Given the description of an element on the screen output the (x, y) to click on. 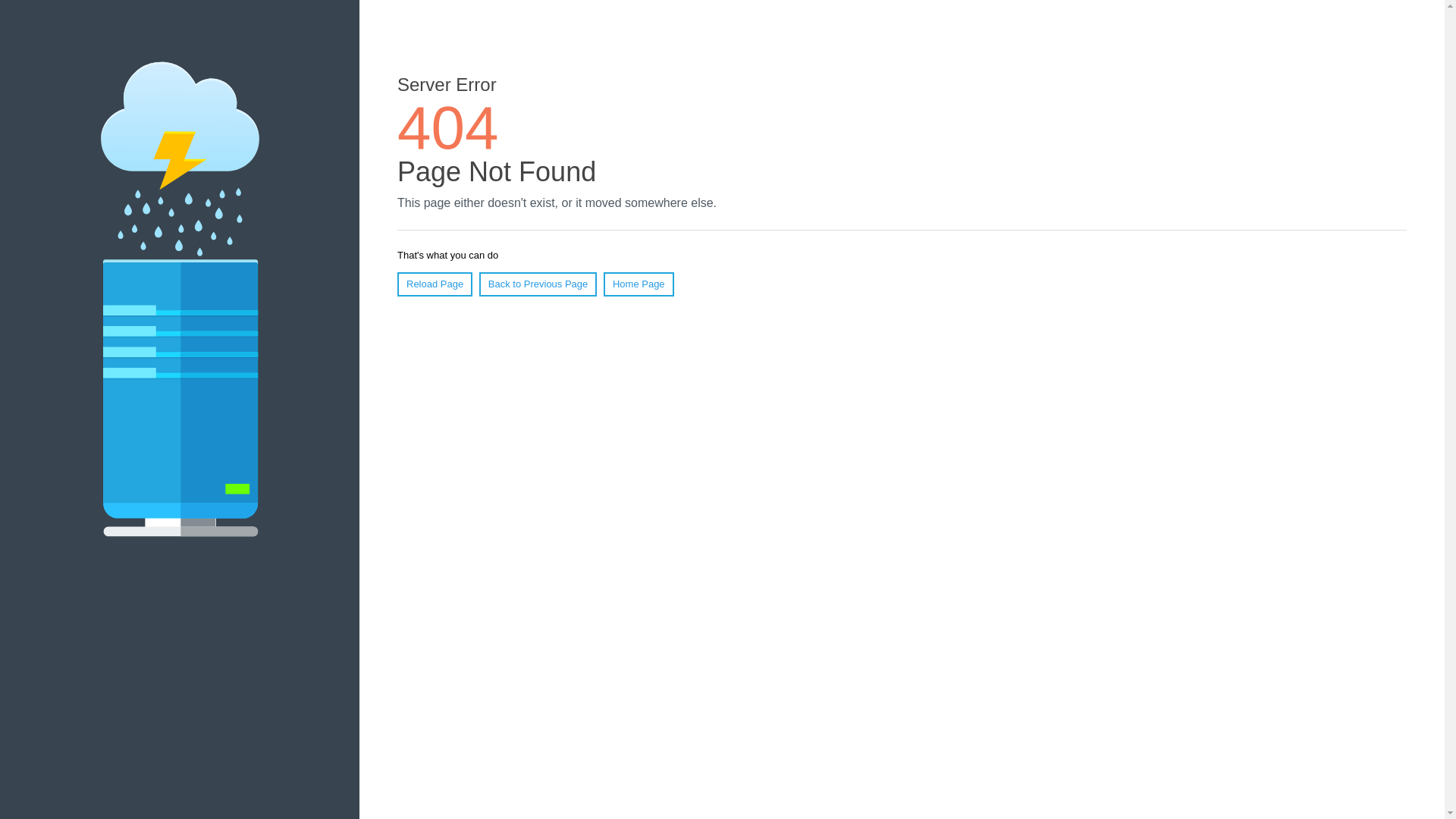
Back to Previous Page Element type: text (538, 284)
Home Page Element type: text (638, 284)
Reload Page Element type: text (434, 284)
